Given the description of an element on the screen output the (x, y) to click on. 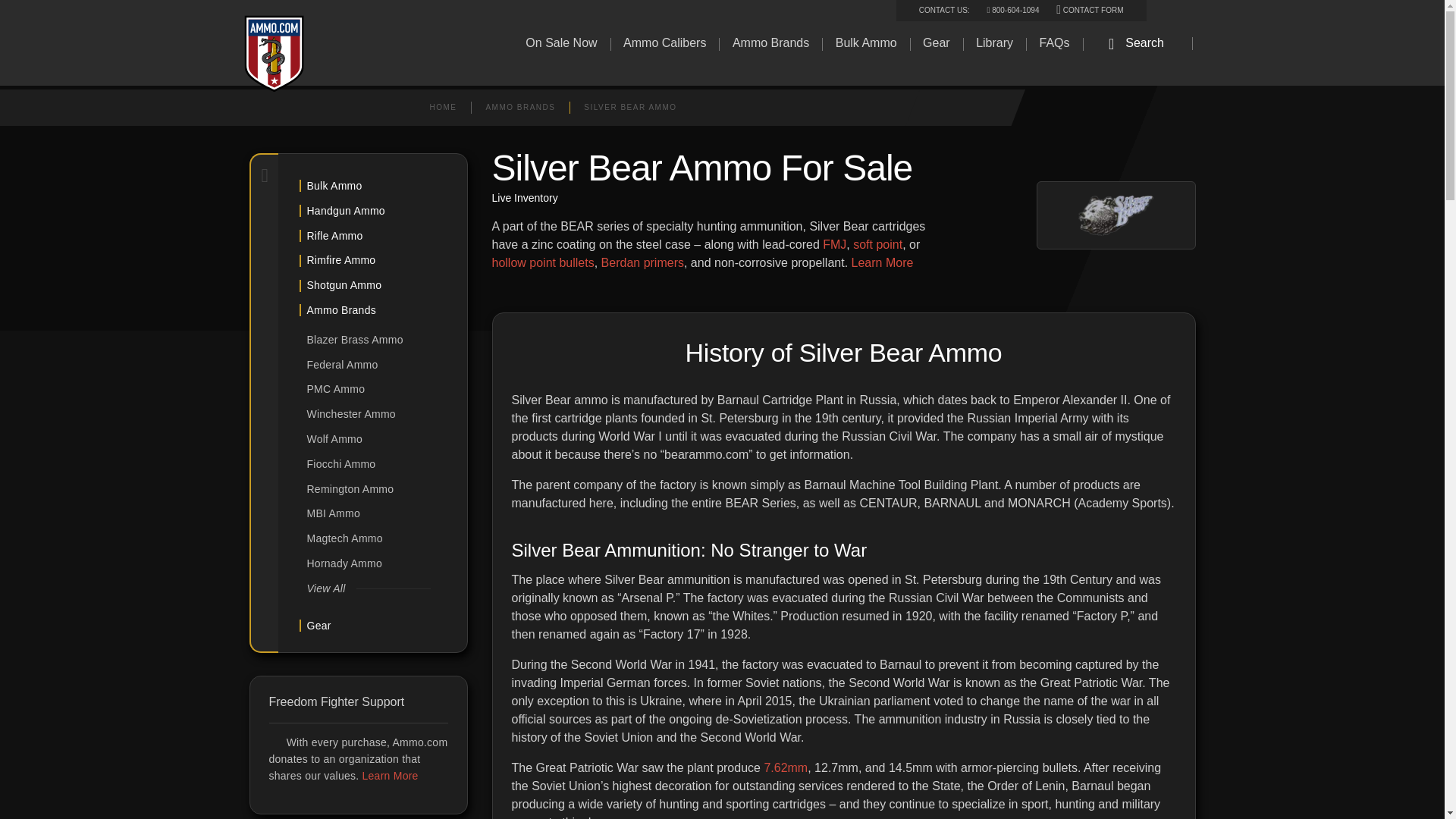
Ammo Calibers (664, 44)
Ammo Deals at Ammo.com (560, 44)
800-604-1094 (1014, 9)
CONTACT FORM (1089, 9)
On Sale Now (560, 44)
